Given the description of an element on the screen output the (x, y) to click on. 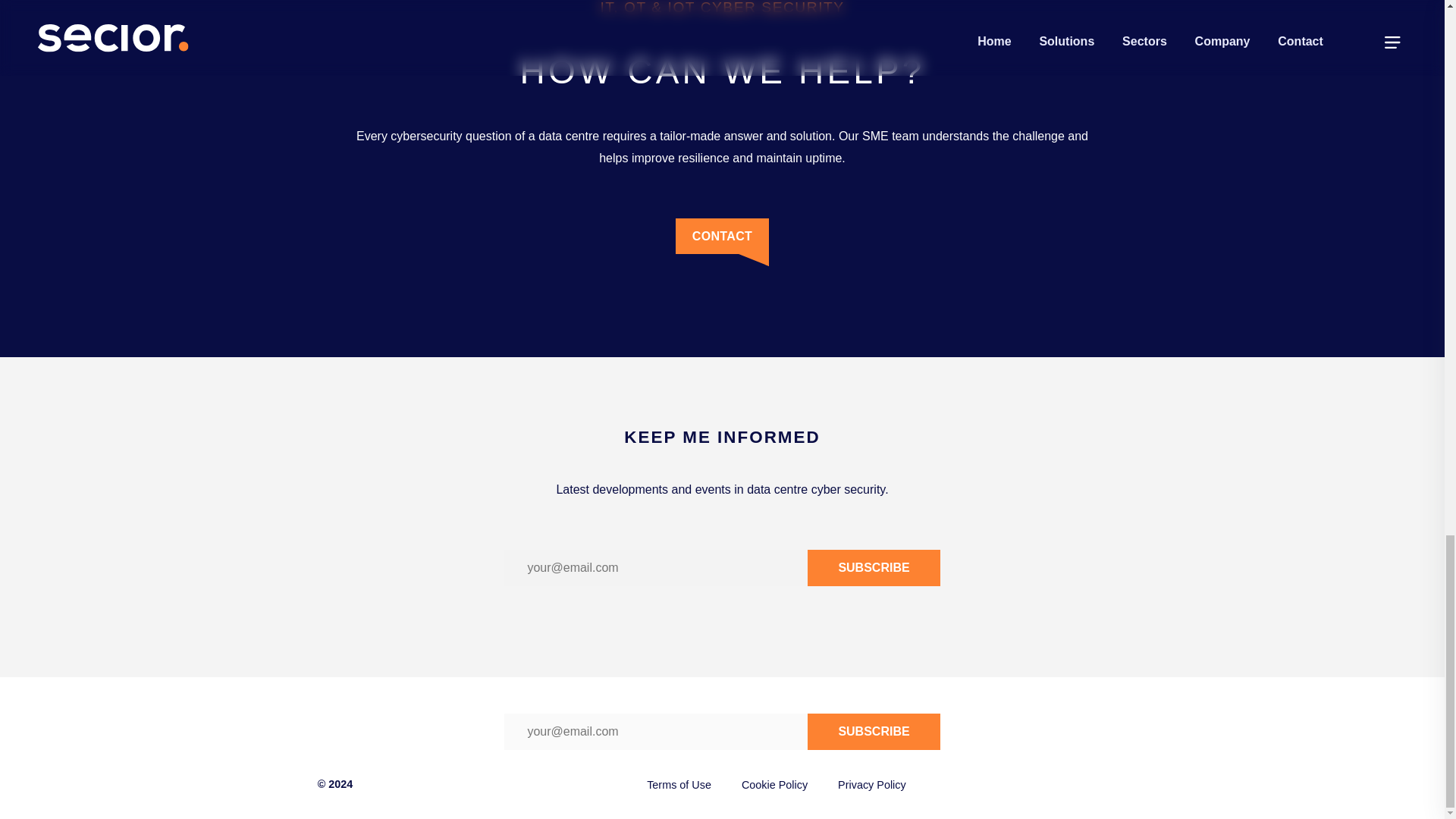
SUBSCRIBE (873, 731)
SUBSCRIBE (873, 567)
Privacy Policy (871, 784)
Cookie Policy (774, 784)
SUBSCRIBE (873, 567)
SUBSCRIBE (873, 731)
Terms of Use (678, 784)
CONTACT (721, 242)
